Given the description of an element on the screen output the (x, y) to click on. 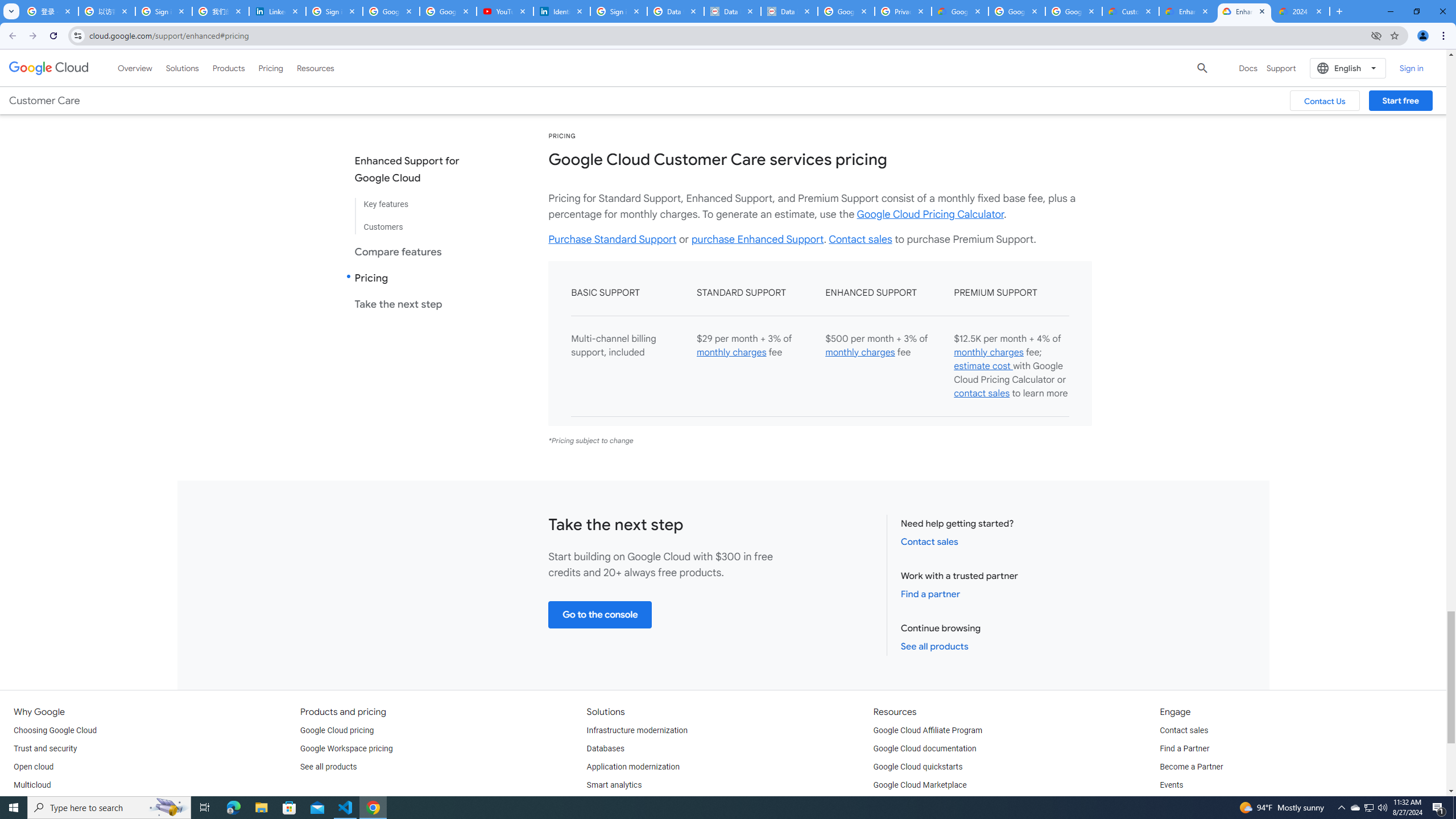
Learn about cloud computing (924, 802)
Forward (32, 35)
Google Cloud pricing (336, 730)
Google Cloud Affiliate Program (927, 730)
Google Workspace pricing (346, 748)
Assured Support (1004, 43)
Bookmark this tab (1393, 35)
Application modernization (632, 766)
Reload (52, 35)
Data Privacy Framework (788, 11)
Close (1318, 11)
Artificial Intelligence (622, 802)
